Given the description of an element on the screen output the (x, y) to click on. 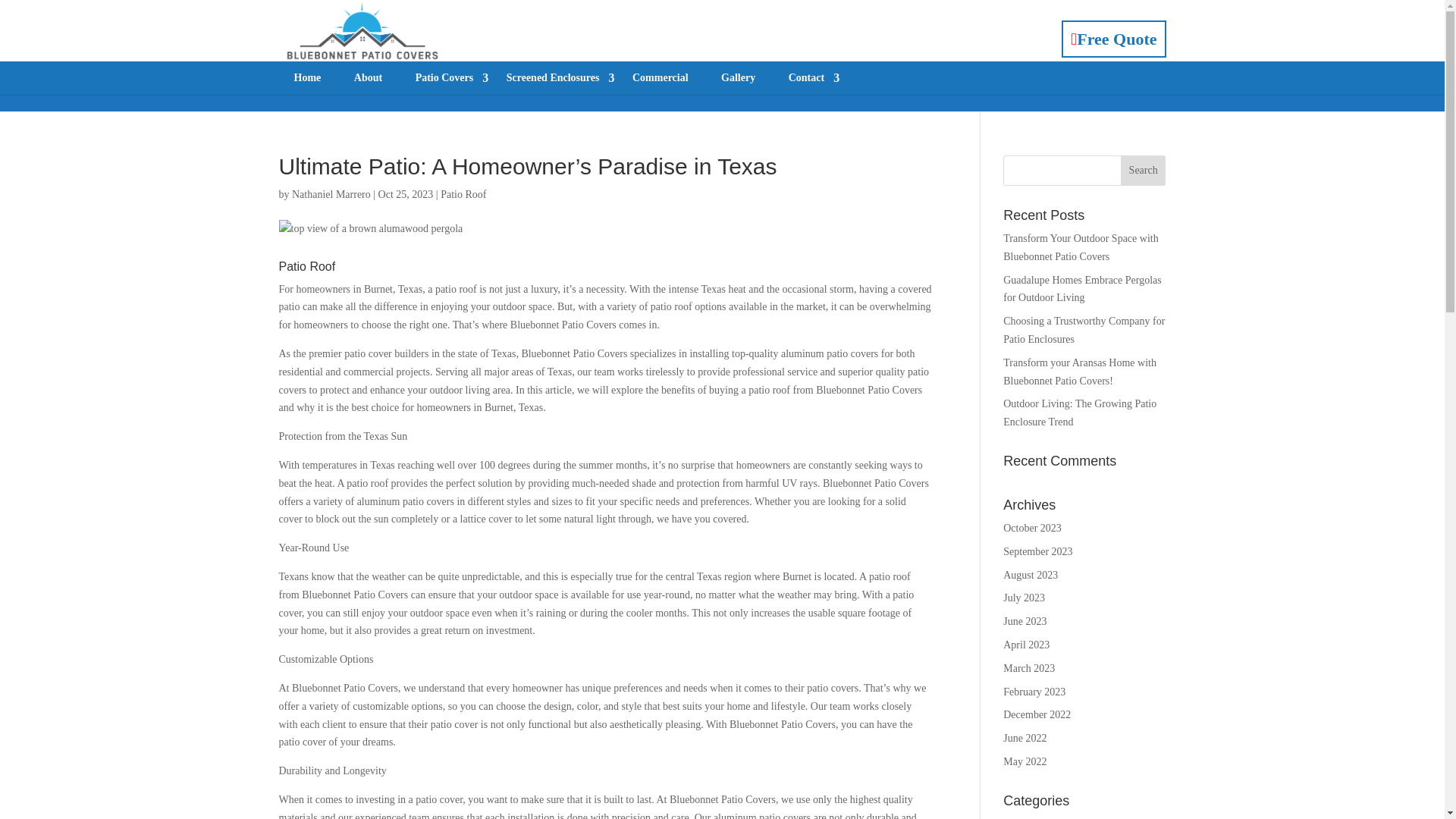
Commercial (660, 78)
Free Quote (1113, 38)
Transform Your Outdoor Space with Bluebonnet Patio Covers (1080, 247)
Guadalupe Homes Embrace Pergolas for Outdoor Living (1082, 288)
June 2023 (1024, 621)
July 2023 (1024, 597)
Posts by Nathaniel Marrero (331, 194)
September 2023 (1037, 551)
August 2023 (1030, 574)
May 2022 (1024, 761)
